Given the description of an element on the screen output the (x, y) to click on. 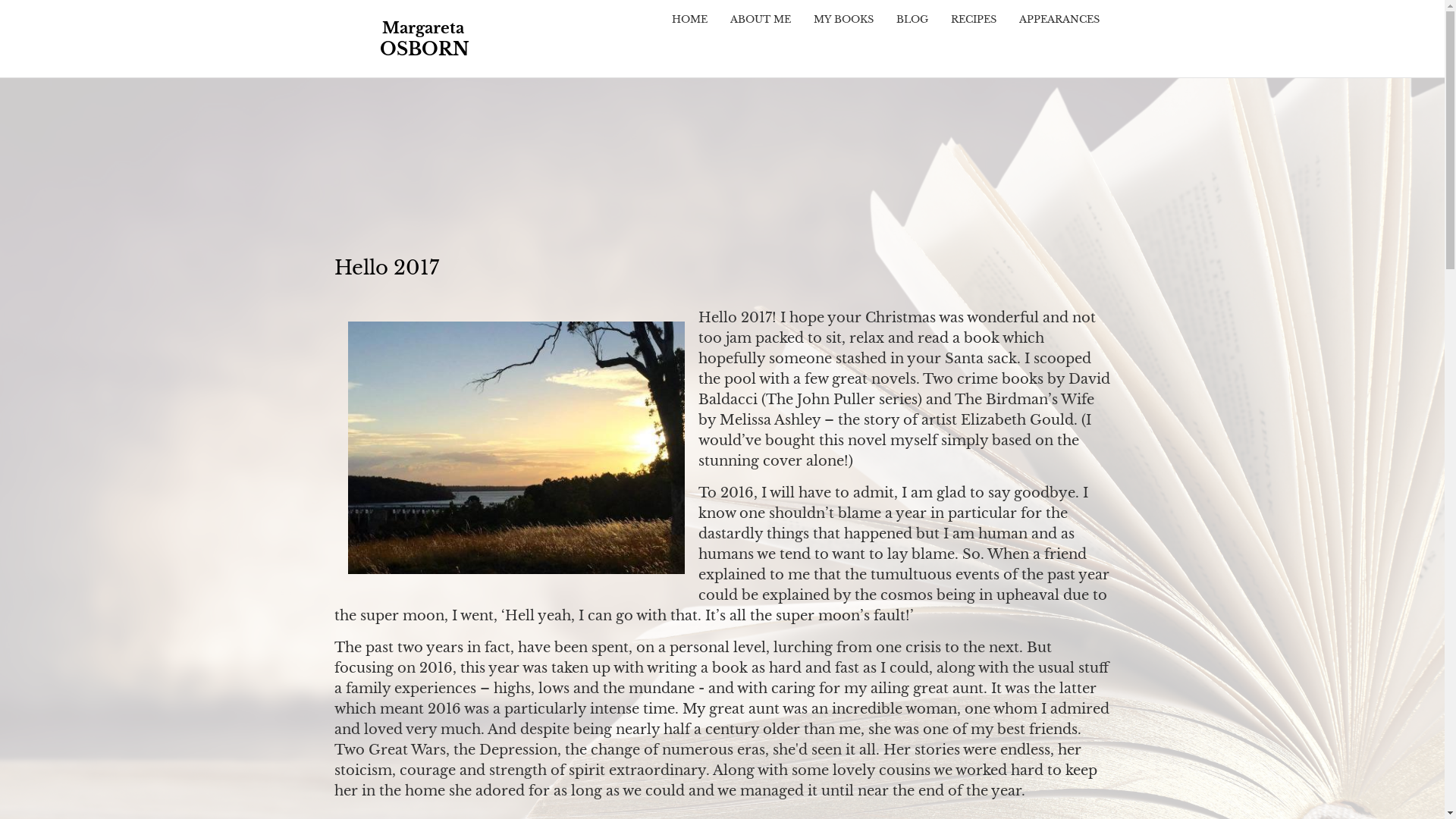
RECIPES Element type: text (972, 19)
MY BOOKS Element type: text (843, 19)
Home Element type: hover (422, 38)
HOME Element type: text (688, 19)
BLOG Element type: text (911, 19)
ABOUT ME Element type: text (760, 19)
APPEARANCES Element type: text (1058, 19)
